Given the description of an element on the screen output the (x, y) to click on. 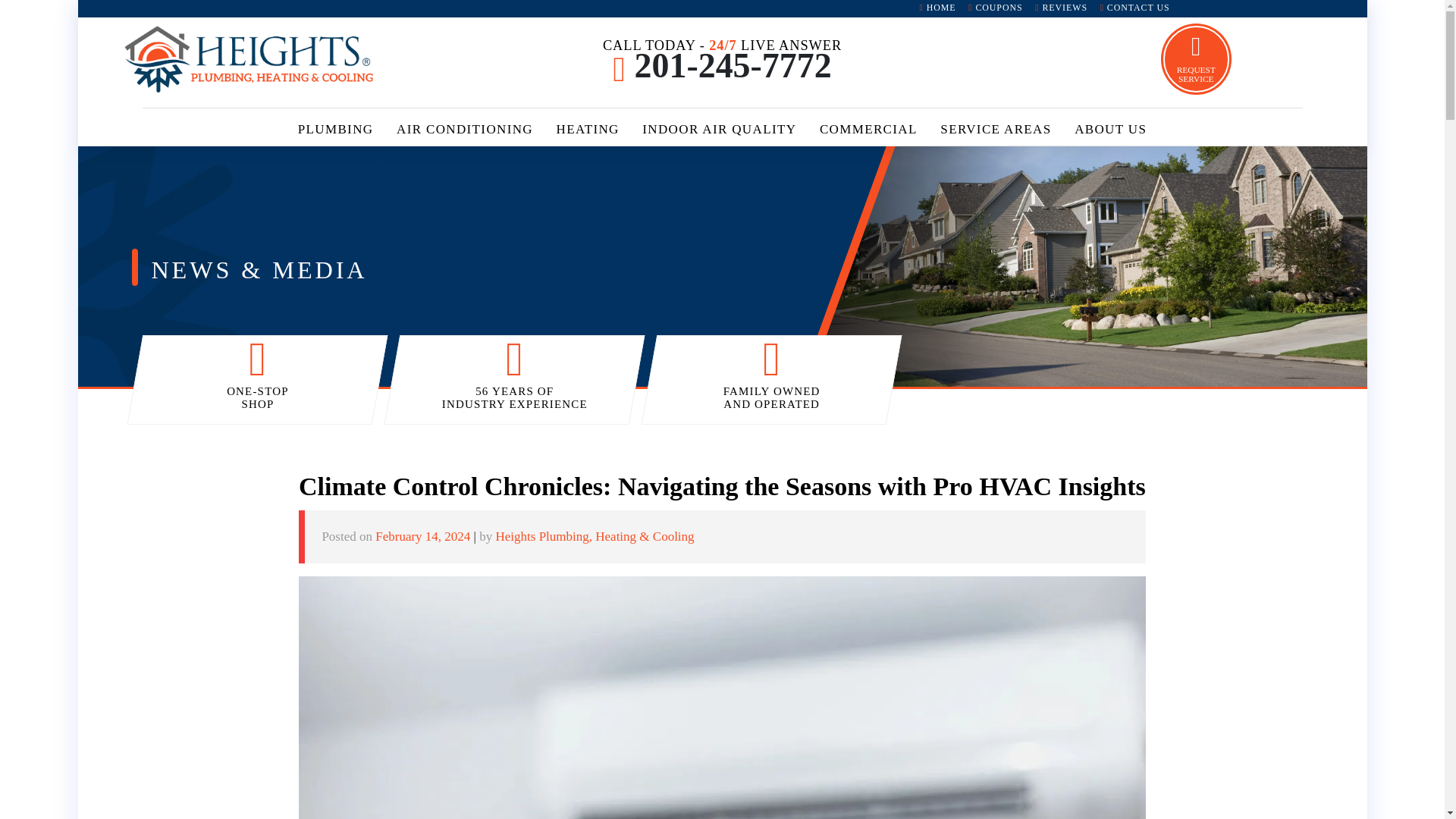
HOME (937, 8)
INDOOR AIR QUALITY (719, 131)
COUPONS (995, 8)
PLUMBING (334, 131)
REVIEWS (1061, 8)
REQUEST SERVICE (1195, 58)
AIR CONDITIONING (464, 131)
HEATING (587, 131)
CONTACT US (1134, 8)
